Given the description of an element on the screen output the (x, y) to click on. 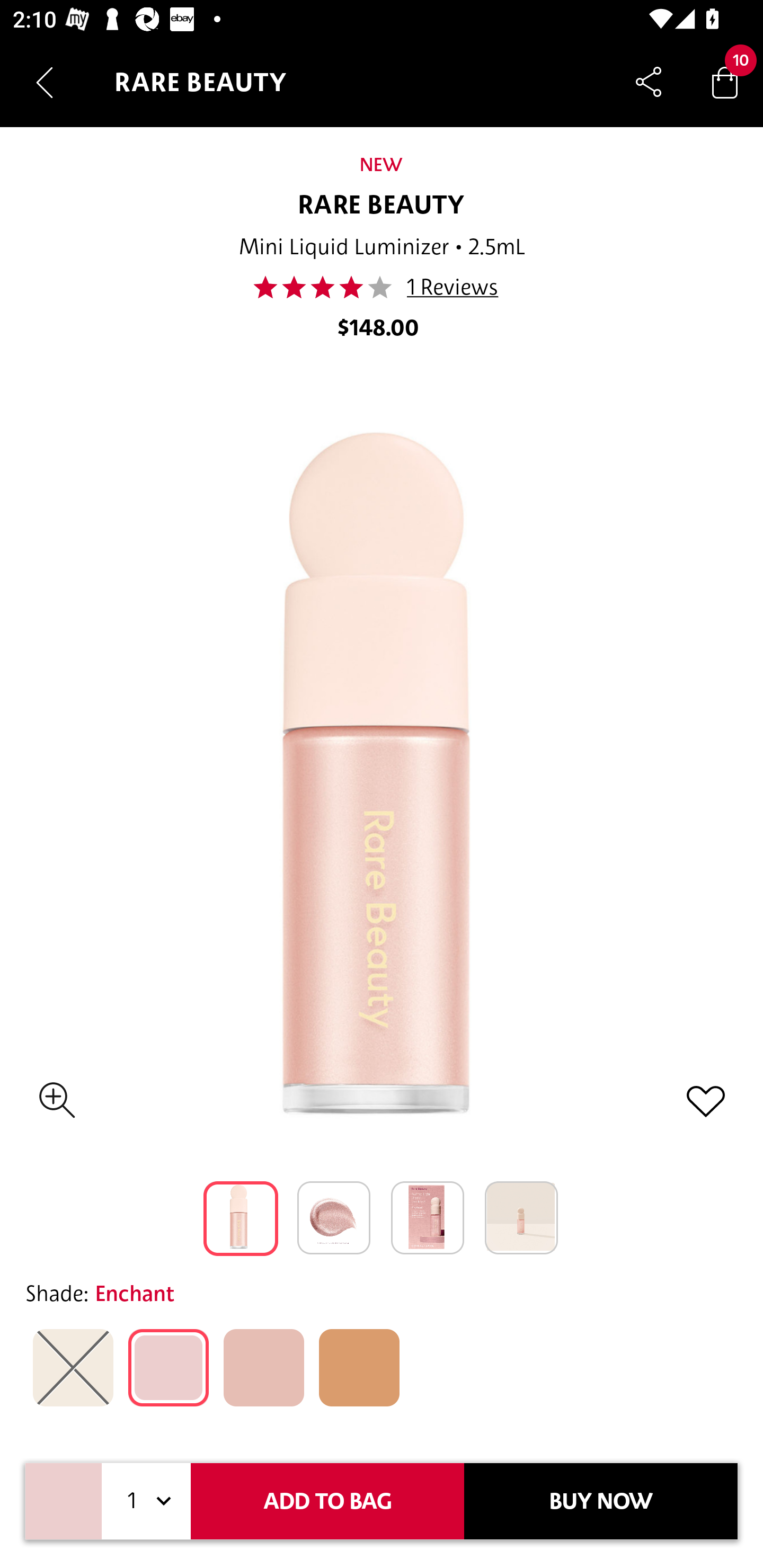
Navigate up (44, 82)
Share (648, 81)
Bag (724, 81)
RARE BEAUTY (381, 205)
40.0 1 Reviews (381, 286)
1 (145, 1500)
ADD TO BAG (326, 1500)
BUY NOW (600, 1500)
